Given the description of an element on the screen output the (x, y) to click on. 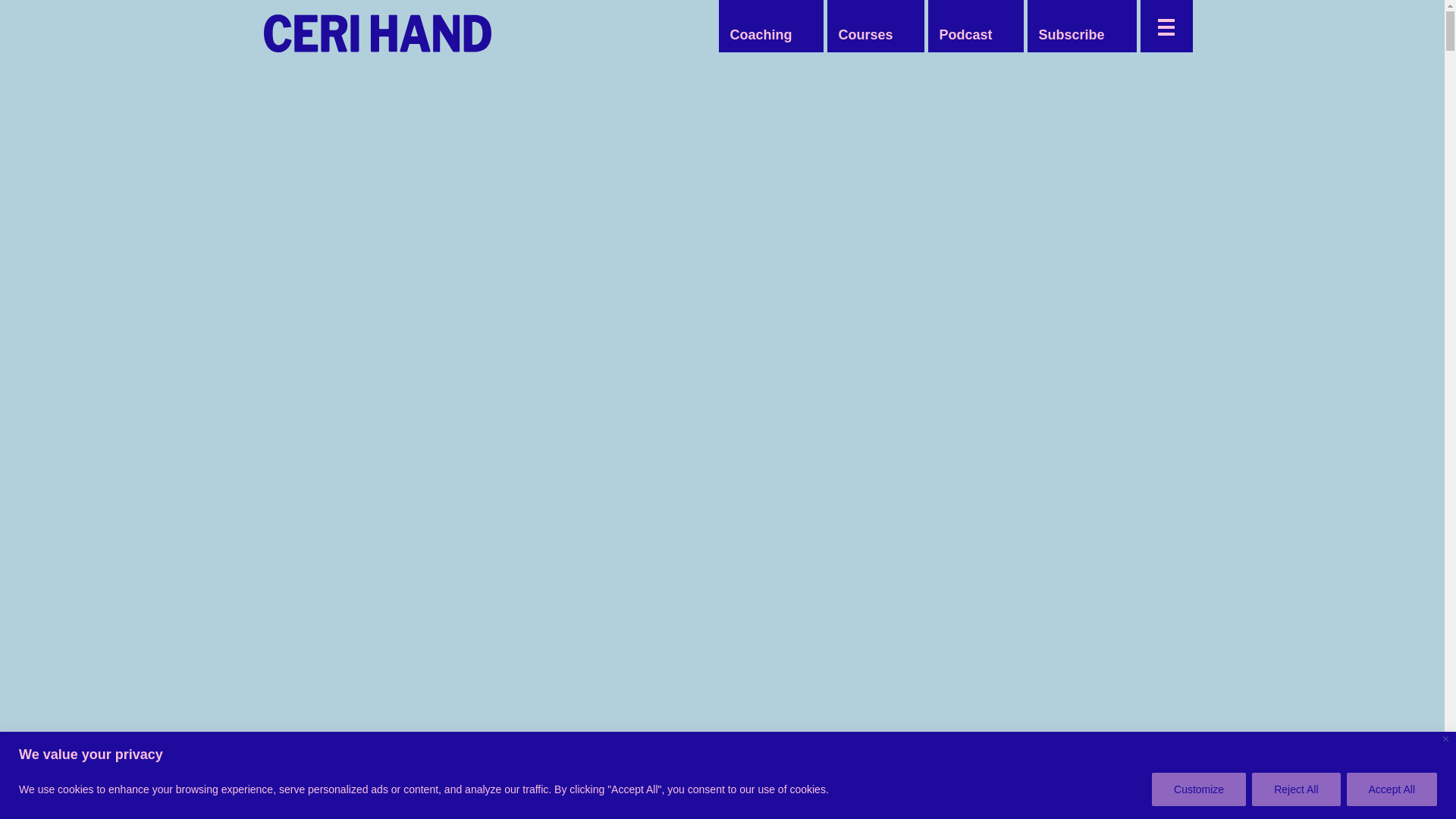
Reject All (1295, 788)
Customize (1198, 788)
Podcast (964, 34)
Accept All (1391, 788)
Coaching (760, 34)
Subscribe (1070, 34)
Courses (864, 34)
